Given the description of an element on the screen output the (x, y) to click on. 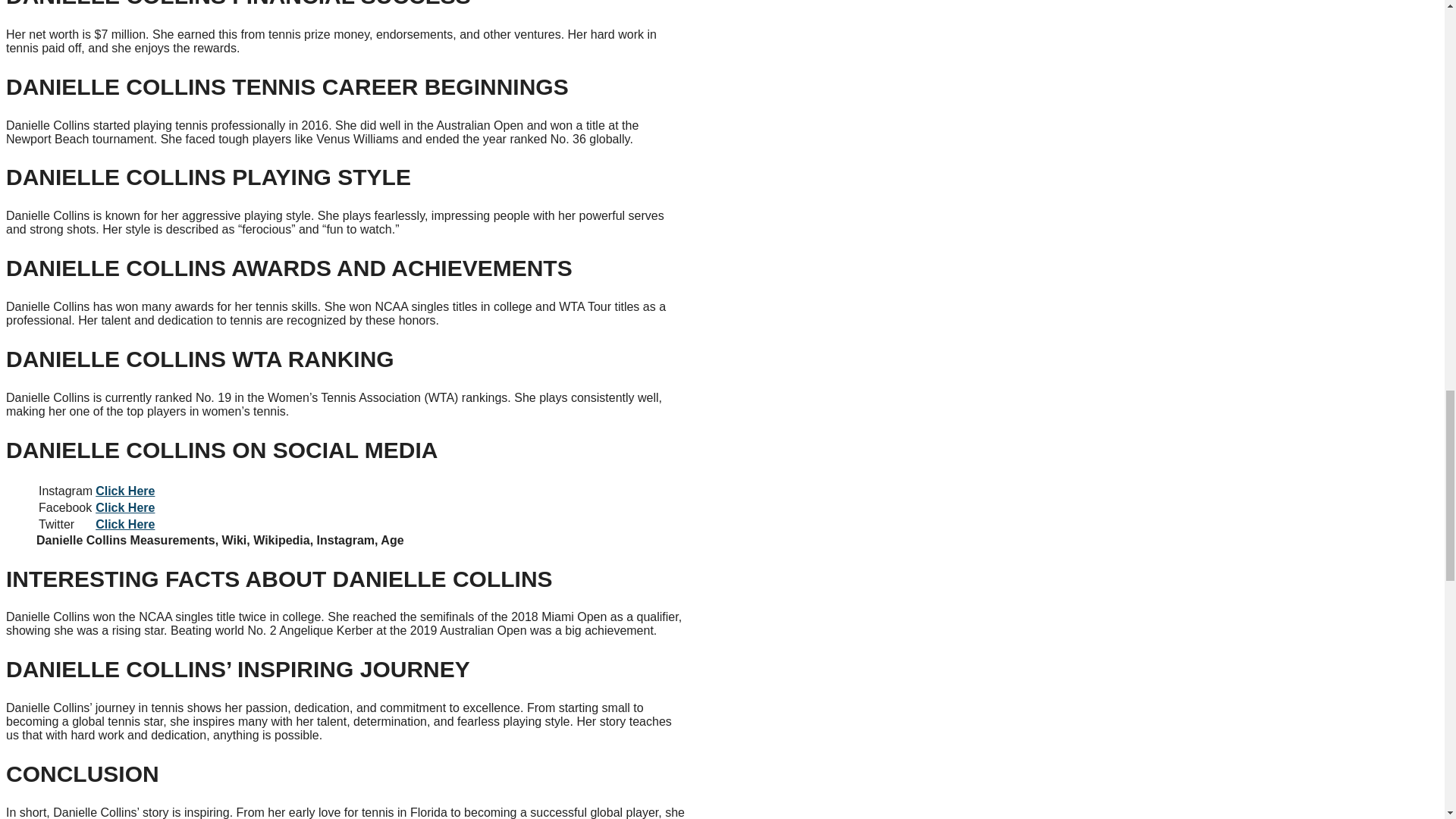
Click Here (125, 490)
Click Here (125, 523)
Click Here (125, 507)
